Given the description of an element on the screen output the (x, y) to click on. 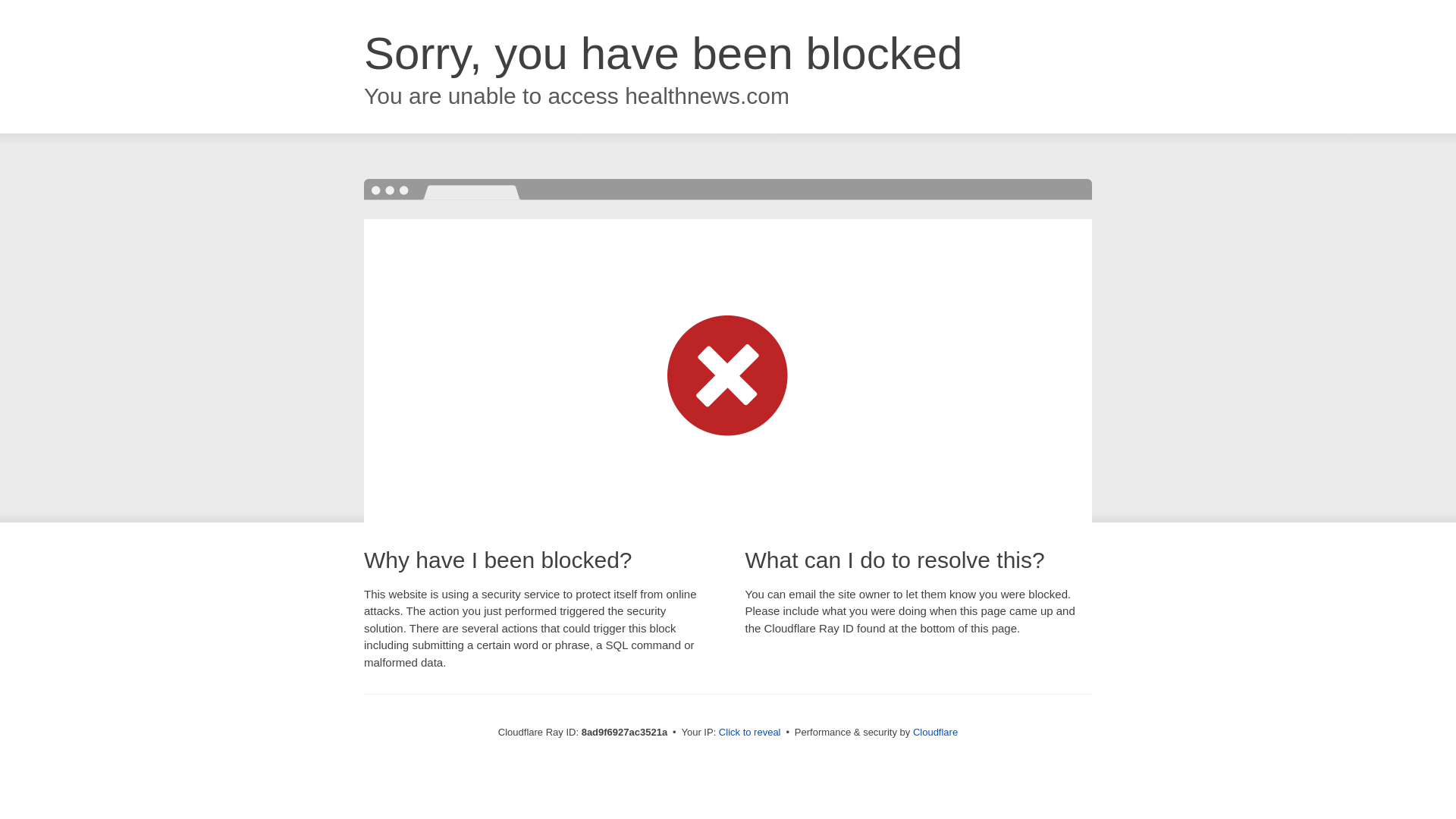
Click to reveal (749, 732)
Cloudflare (935, 731)
